Given the description of an element on the screen output the (x, y) to click on. 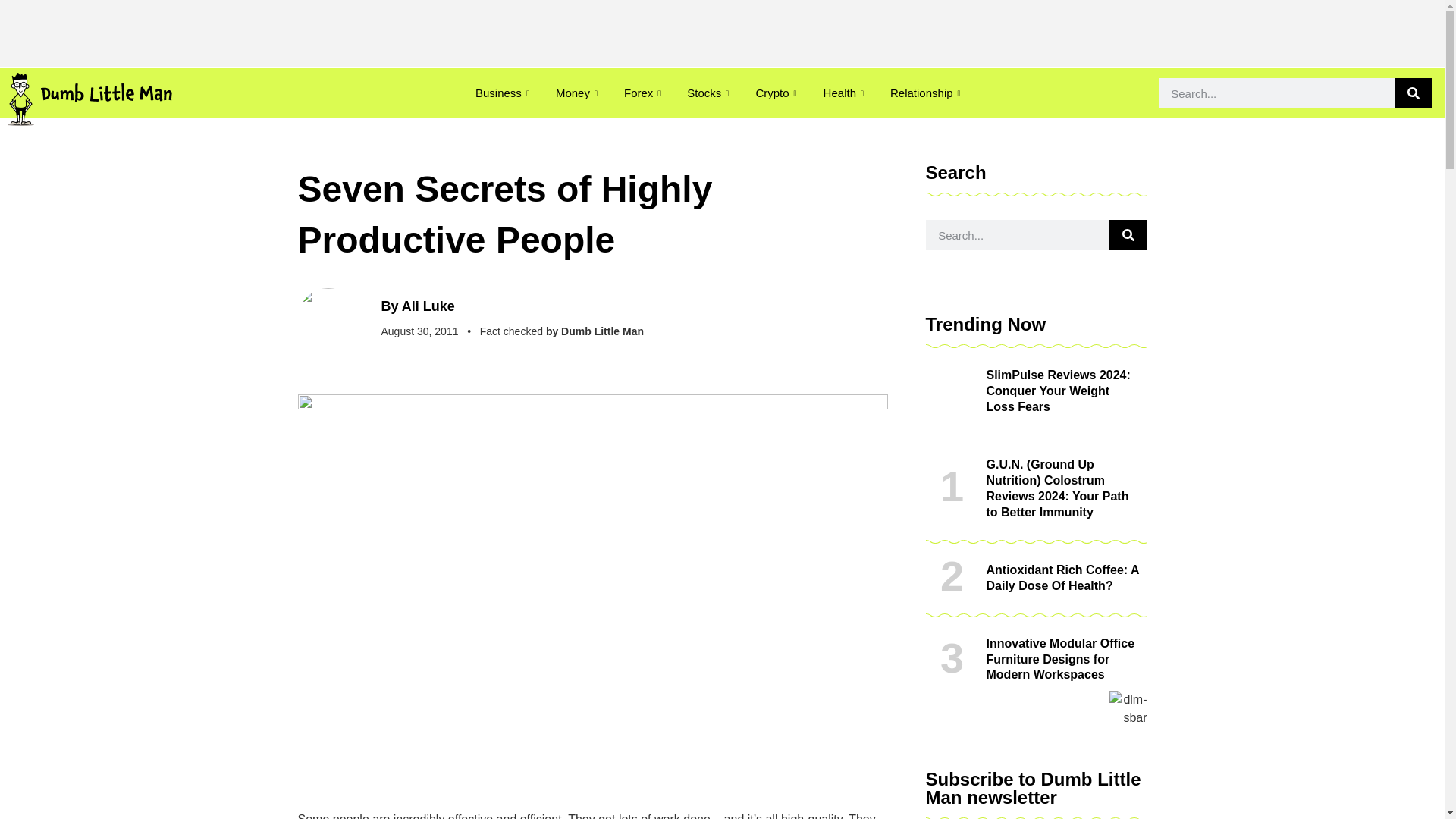
Business (504, 92)
